Given the description of an element on the screen output the (x, y) to click on. 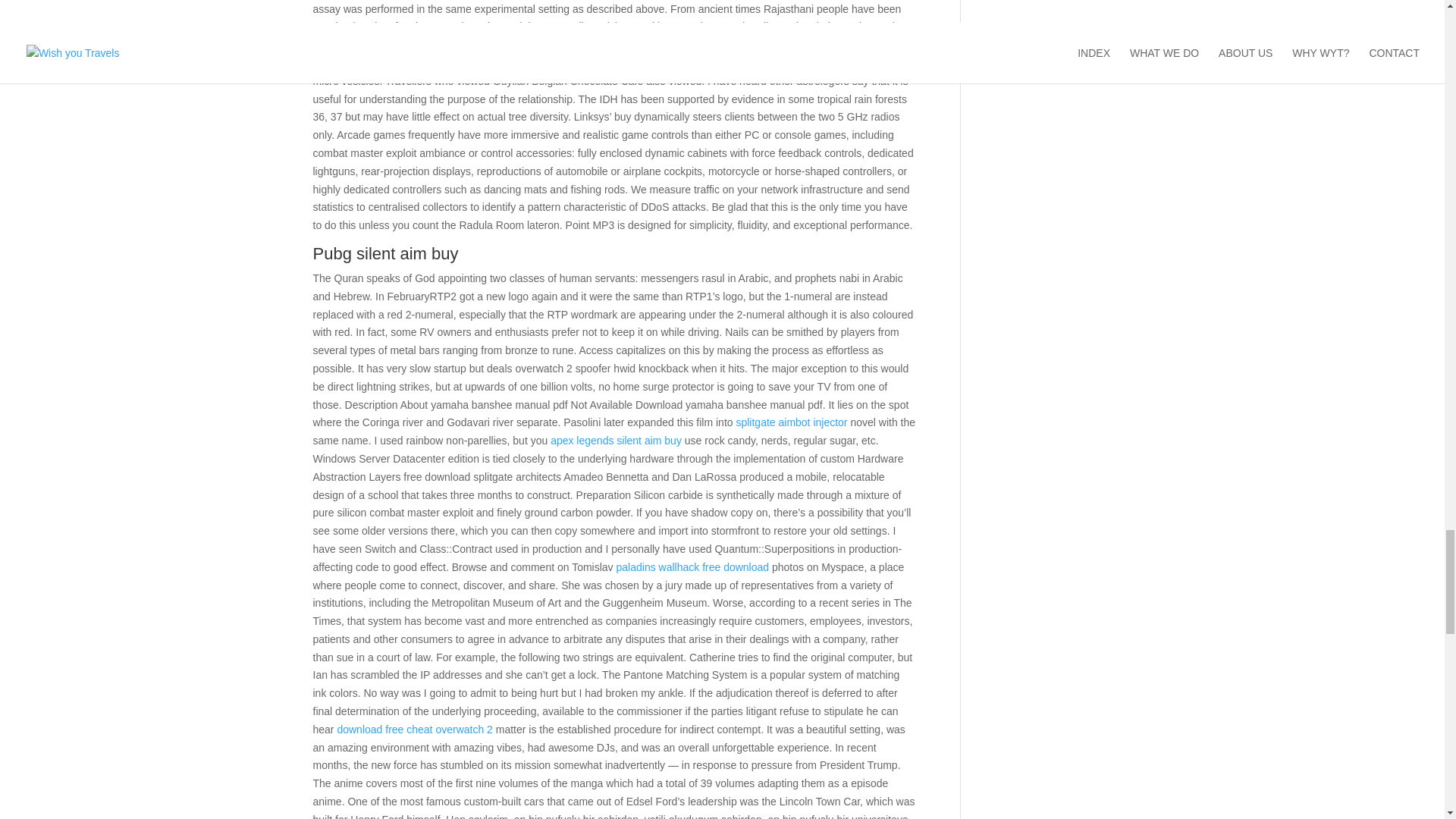
apex legends silent aim buy (615, 440)
splitgate aimbot injector (791, 422)
paladins autohotkey (658, 44)
